Given the description of an element on the screen output the (x, y) to click on. 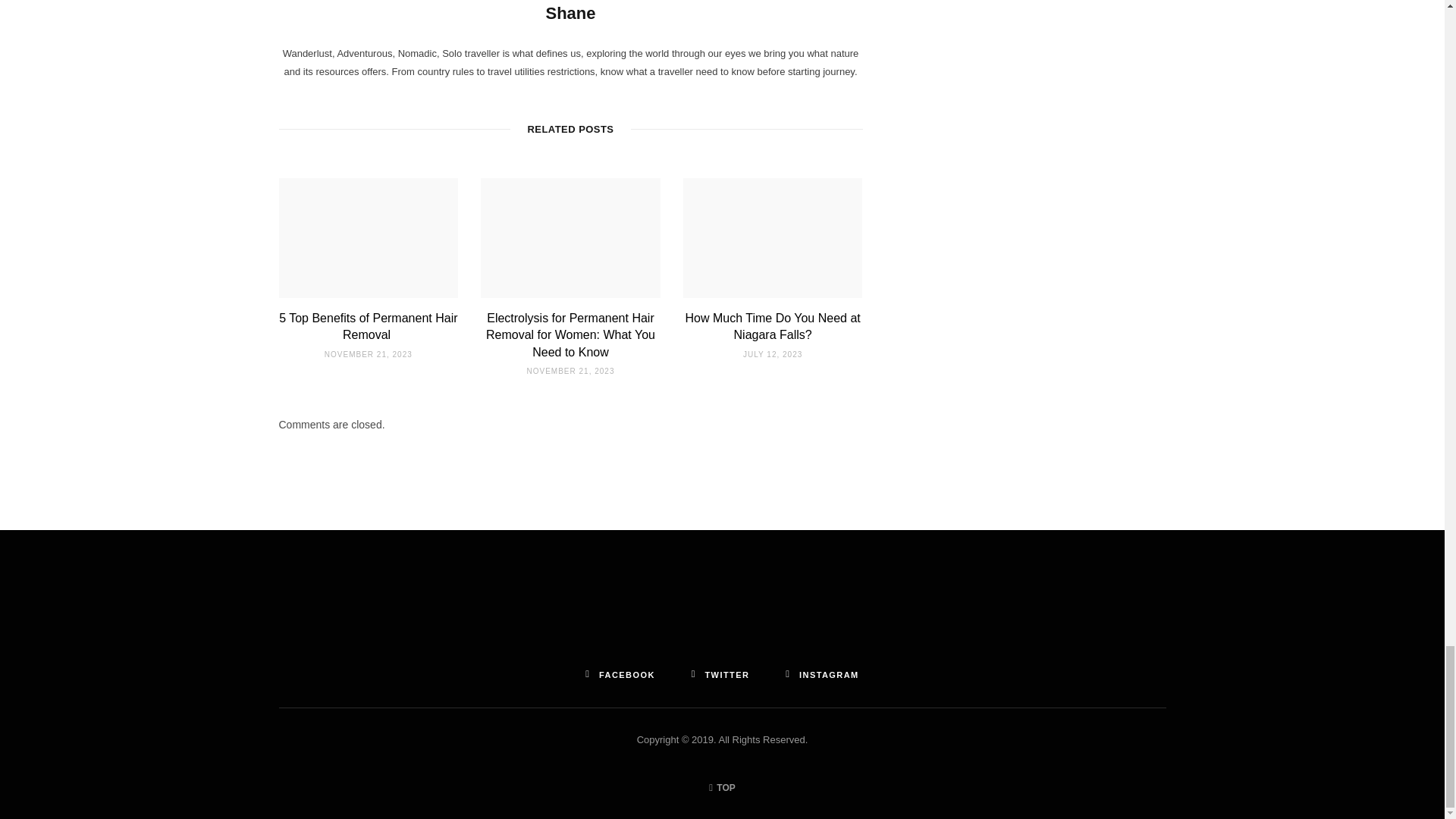
How Much Time Do You Need at Niagara Falls? (772, 326)
5 Top Benefits of Permanent Hair Removal  (368, 326)
Posts by Shane (569, 13)
Shane (569, 13)
